Given the description of an element on the screen output the (x, y) to click on. 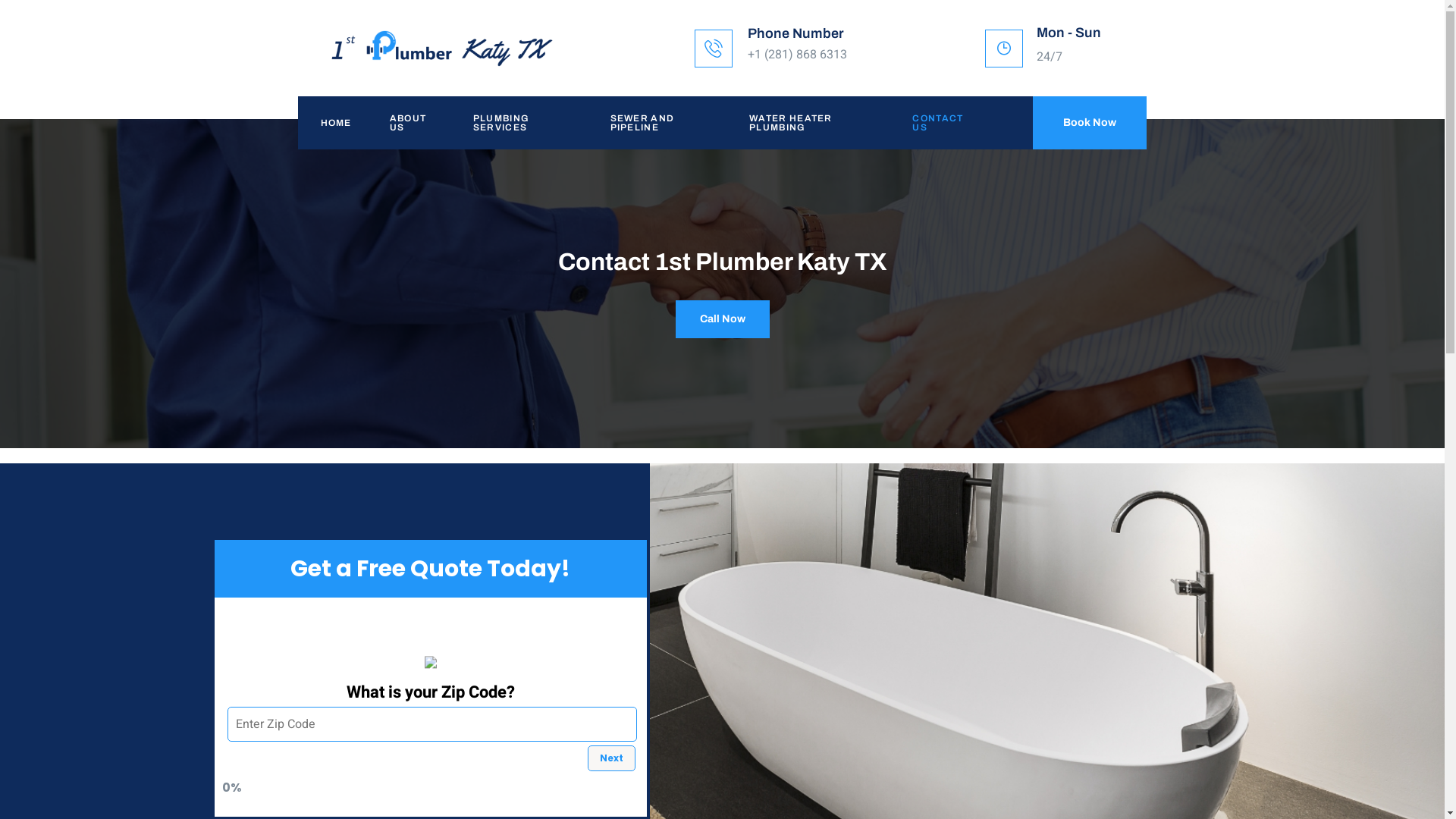
ABOUT US Element type: text (408, 122)
WATER HEATER PLUMBING Element type: text (807, 122)
PLUMBING SERVICES Element type: text (518, 122)
Phone Number Element type: text (795, 32)
Call Now Element type: text (721, 319)
HOME Element type: text (331, 122)
SEWER AND PIPELINE Element type: text (657, 122)
CONTACT US Element type: text (937, 122)
Next Element type: text (610, 758)
Book Now Element type: text (1089, 122)
